Given the description of an element on the screen output the (x, y) to click on. 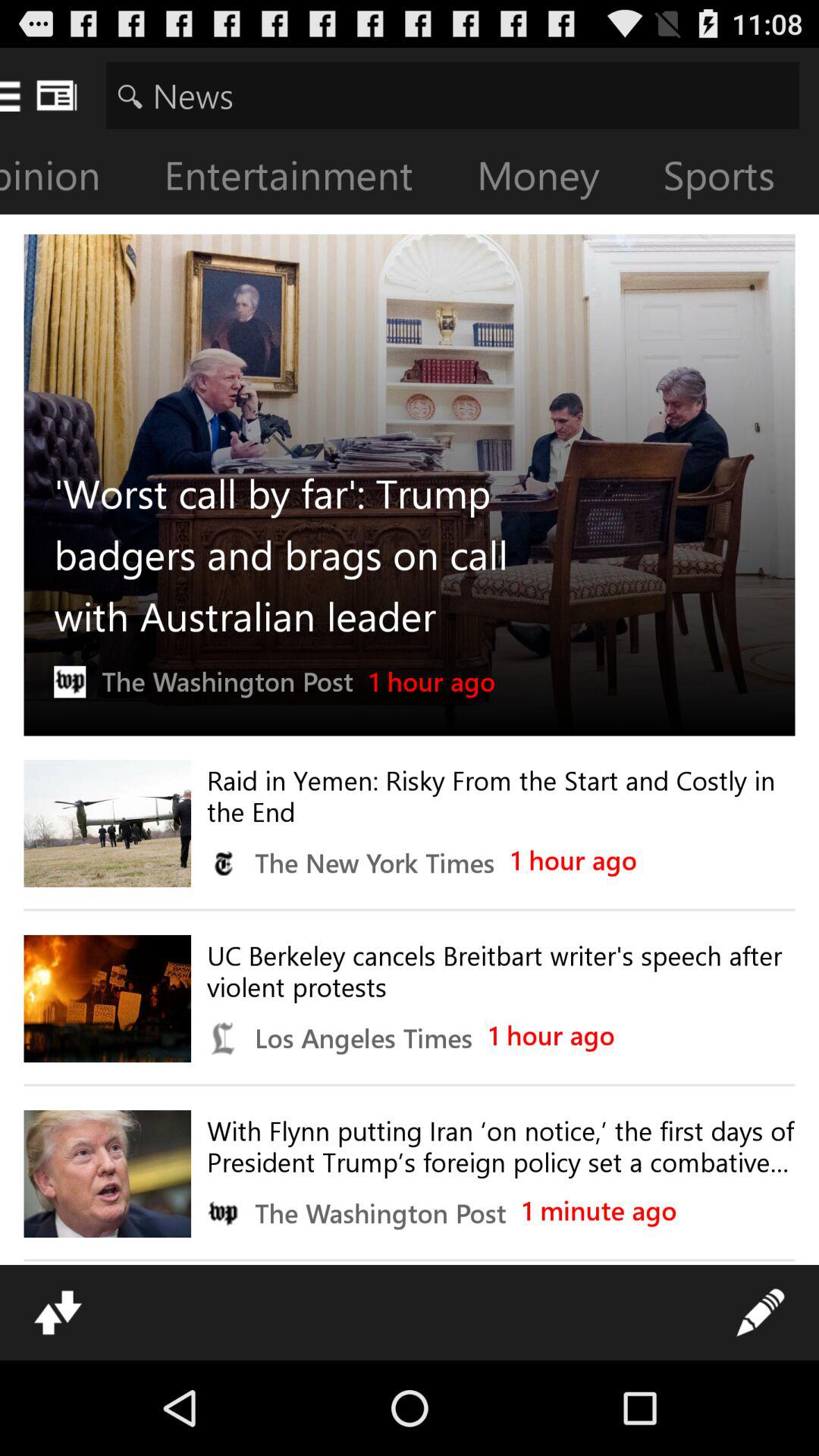
tap the icon to the right of entertainment icon (550, 178)
